Given the description of an element on the screen output the (x, y) to click on. 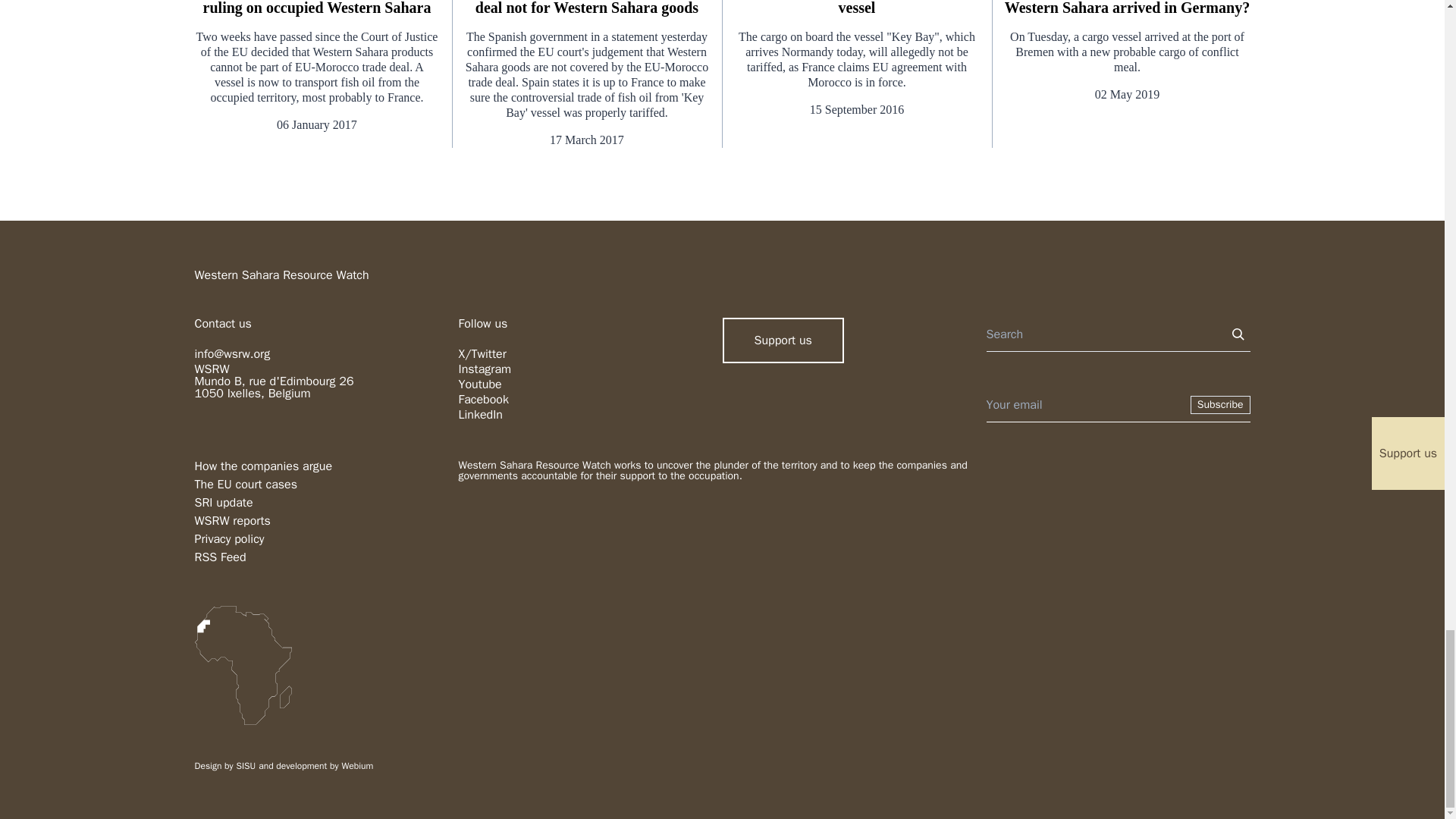
RSS Feed (219, 557)
Youtube (479, 384)
WSRW reports (231, 520)
SISU (245, 765)
SRI update (222, 502)
French customs will not tariff fish oil vessel (855, 8)
The EU court cases (245, 484)
Subscribe (1220, 404)
Privacy policy (228, 539)
Facebook (483, 399)
LinkedIn (480, 414)
Instagram (484, 368)
